Given the description of an element on the screen output the (x, y) to click on. 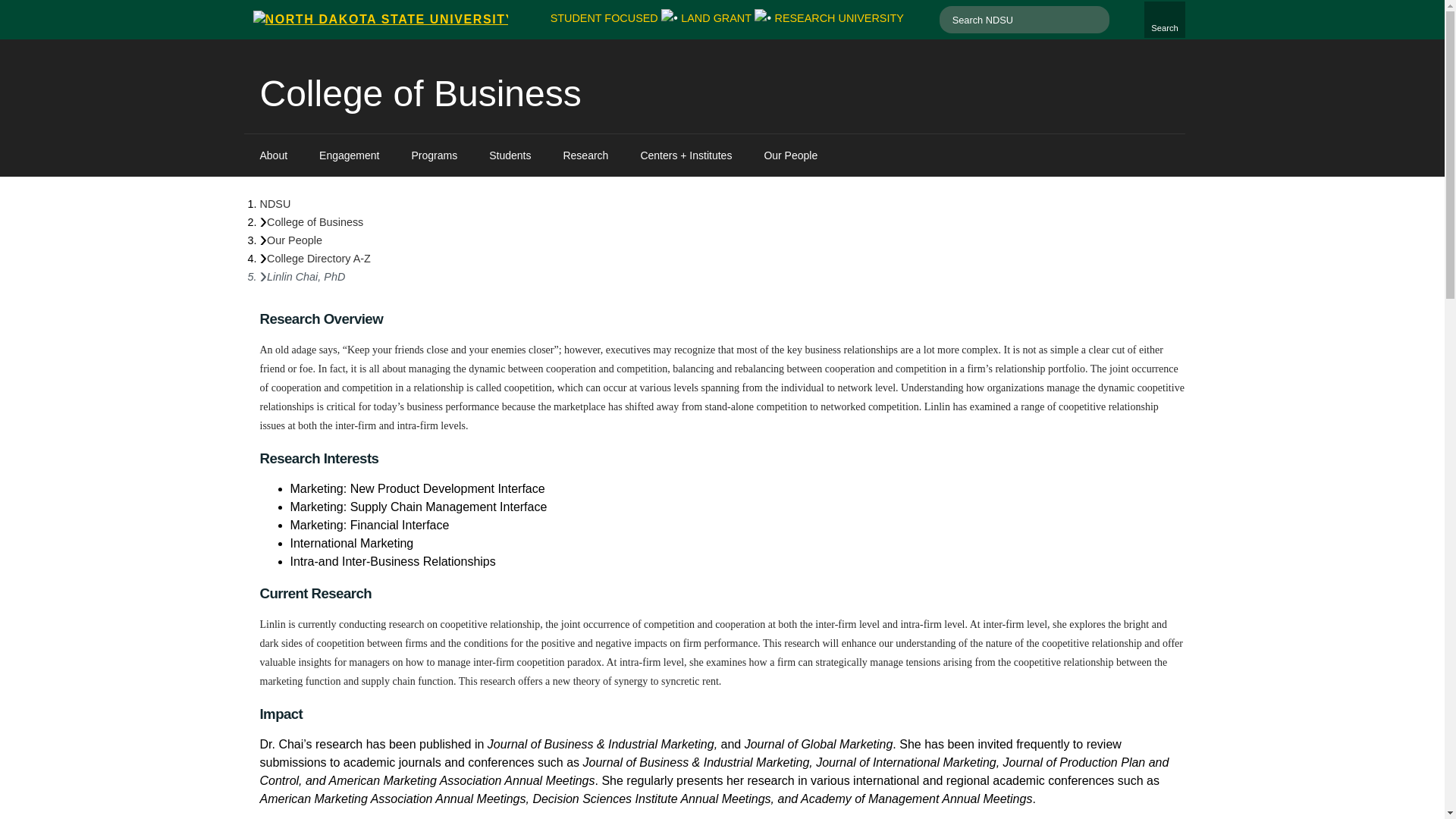
Research (585, 155)
LAND GRANT (716, 18)
Programs (435, 155)
Students (510, 155)
Engagement (348, 155)
College of Business (419, 93)
Our People (293, 240)
Submit (1096, 19)
RESEARCH UNIVERSITY (1164, 19)
STUDENT FOCUSED (839, 18)
About (604, 18)
College of Business (274, 155)
College Directory A-Z (314, 222)
